Given the description of an element on the screen output the (x, y) to click on. 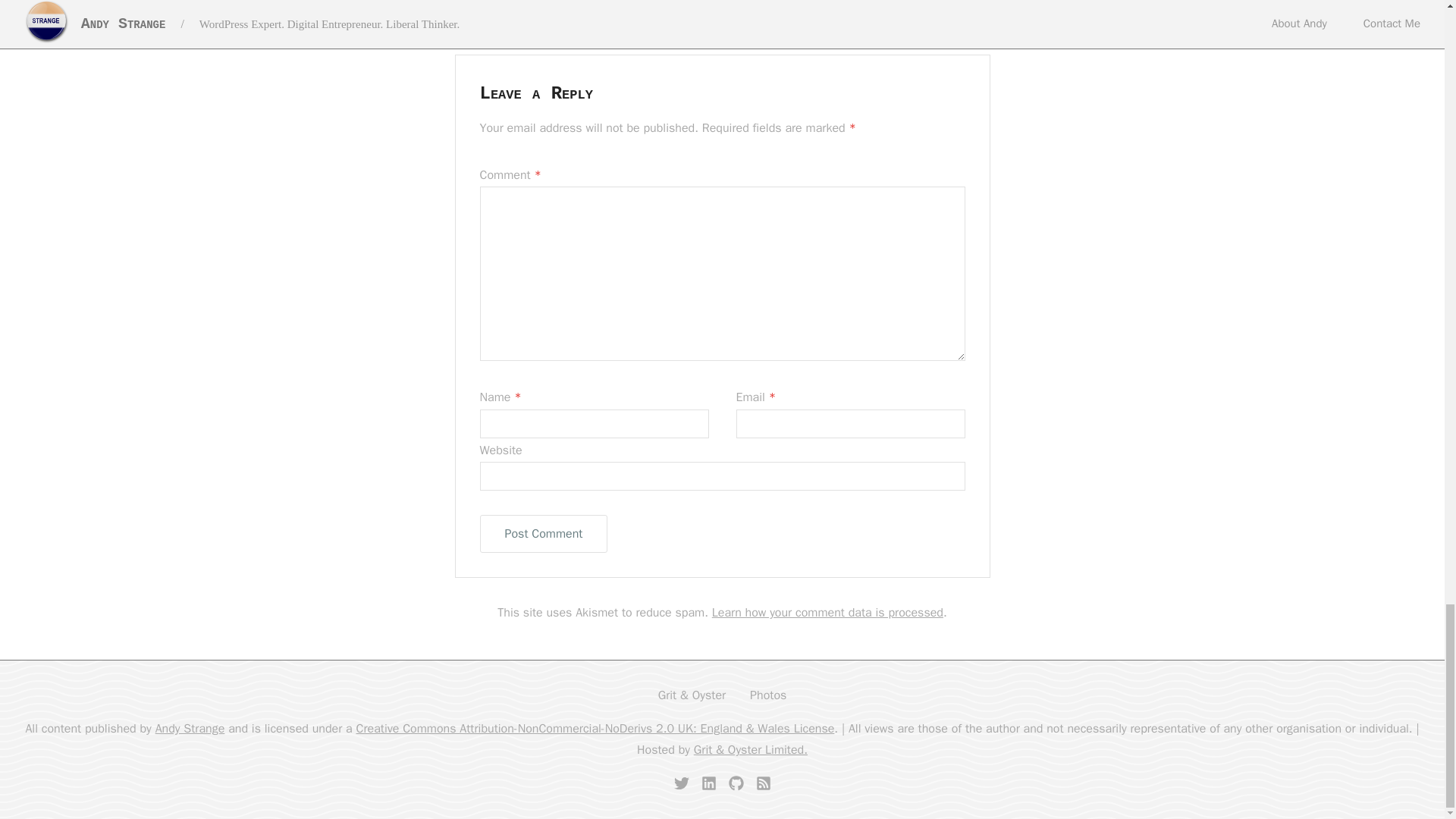
Photos (767, 694)
Post Comment (543, 533)
Learn how your comment data is processed (827, 612)
Post Comment (543, 533)
My photo galleries (767, 694)
Andy Strange (190, 728)
Company website (751, 749)
